Given the description of an element on the screen output the (x, y) to click on. 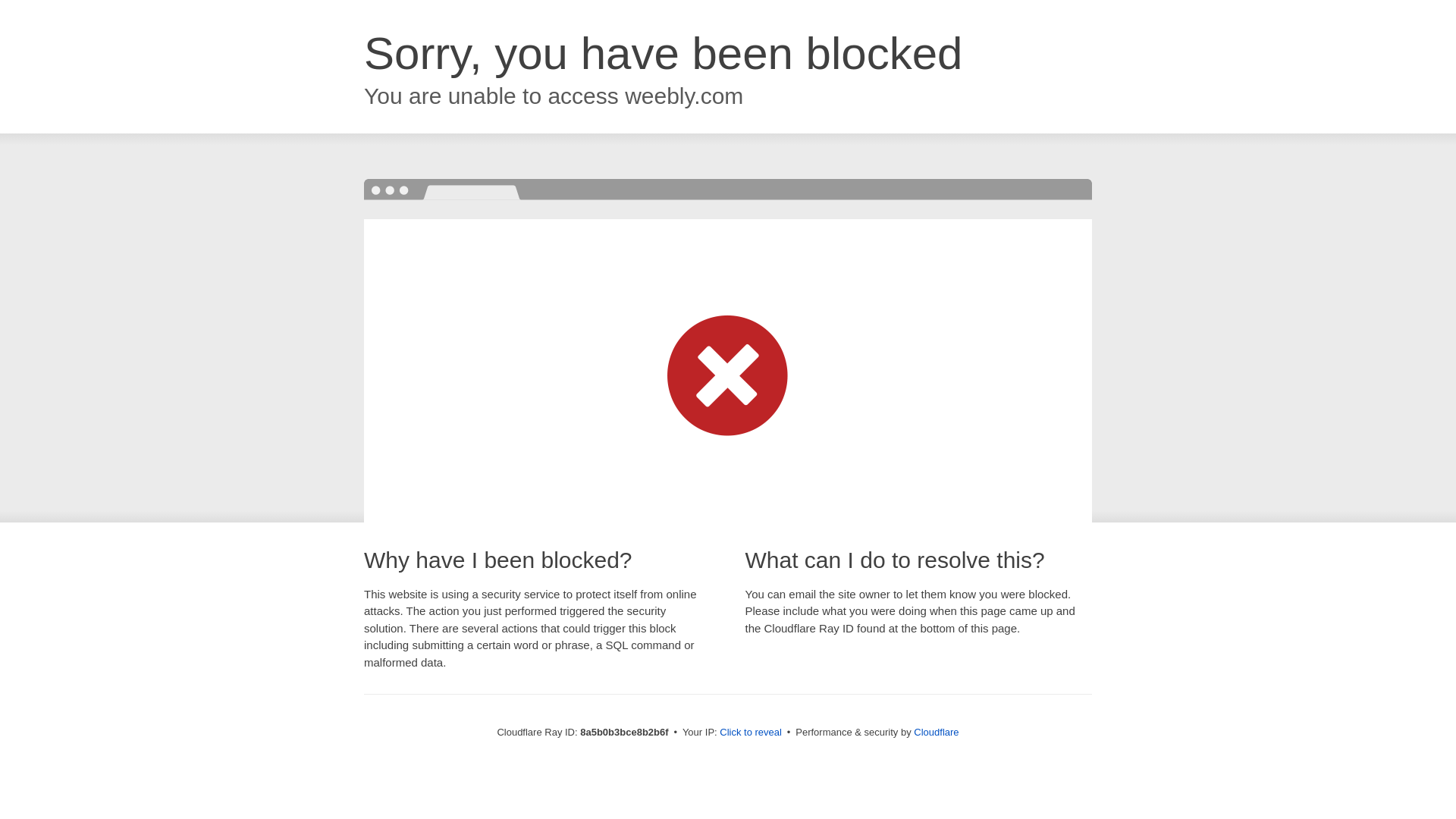
Cloudflare (936, 731)
Click to reveal (750, 732)
